Given the description of an element on the screen output the (x, y) to click on. 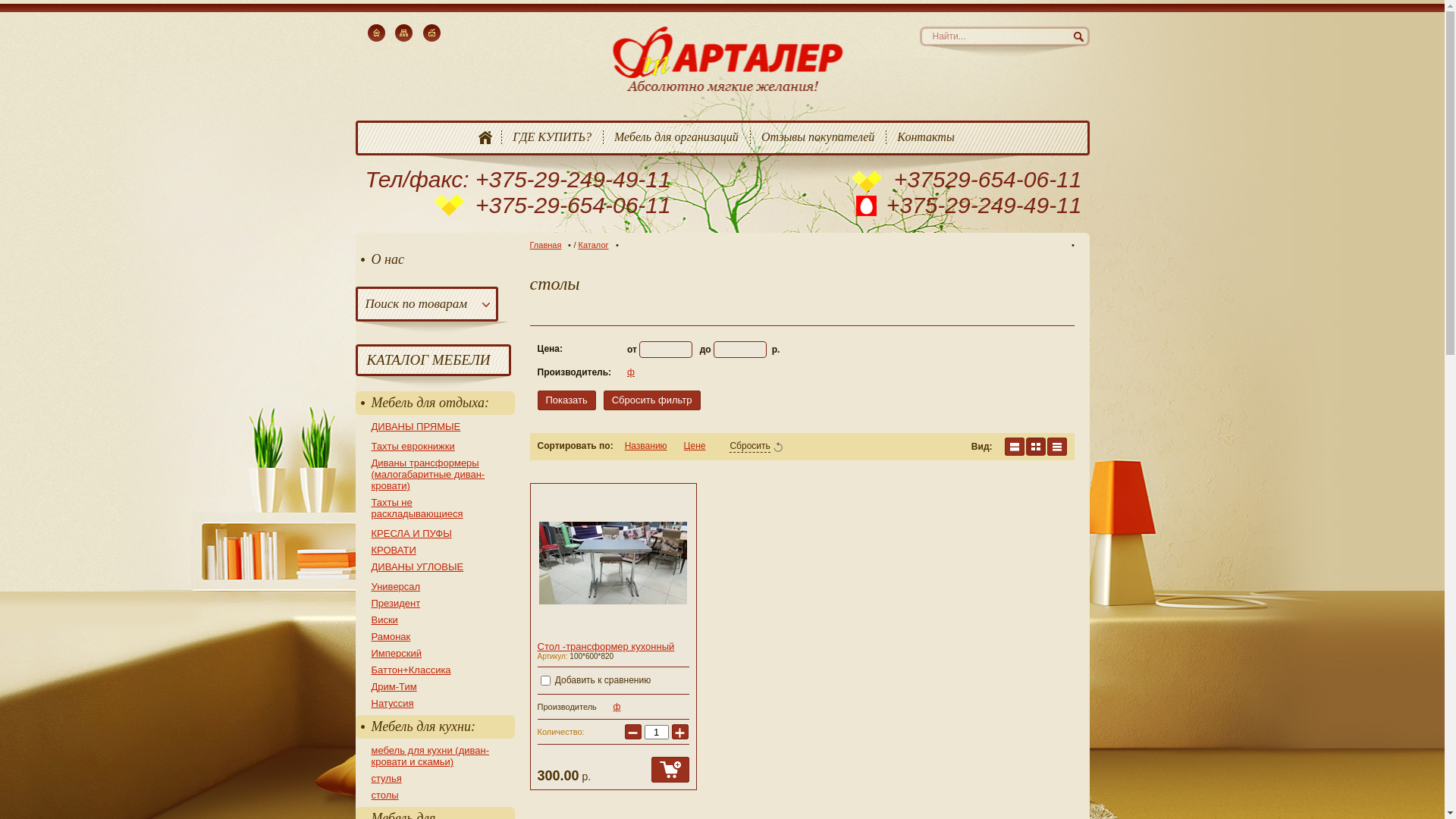
  Element type: text (1056, 446)
+ Element type: text (679, 731)
  Element type: text (1034, 446)
  Element type: text (1013, 446)
